Given the description of an element on the screen output the (x, y) to click on. 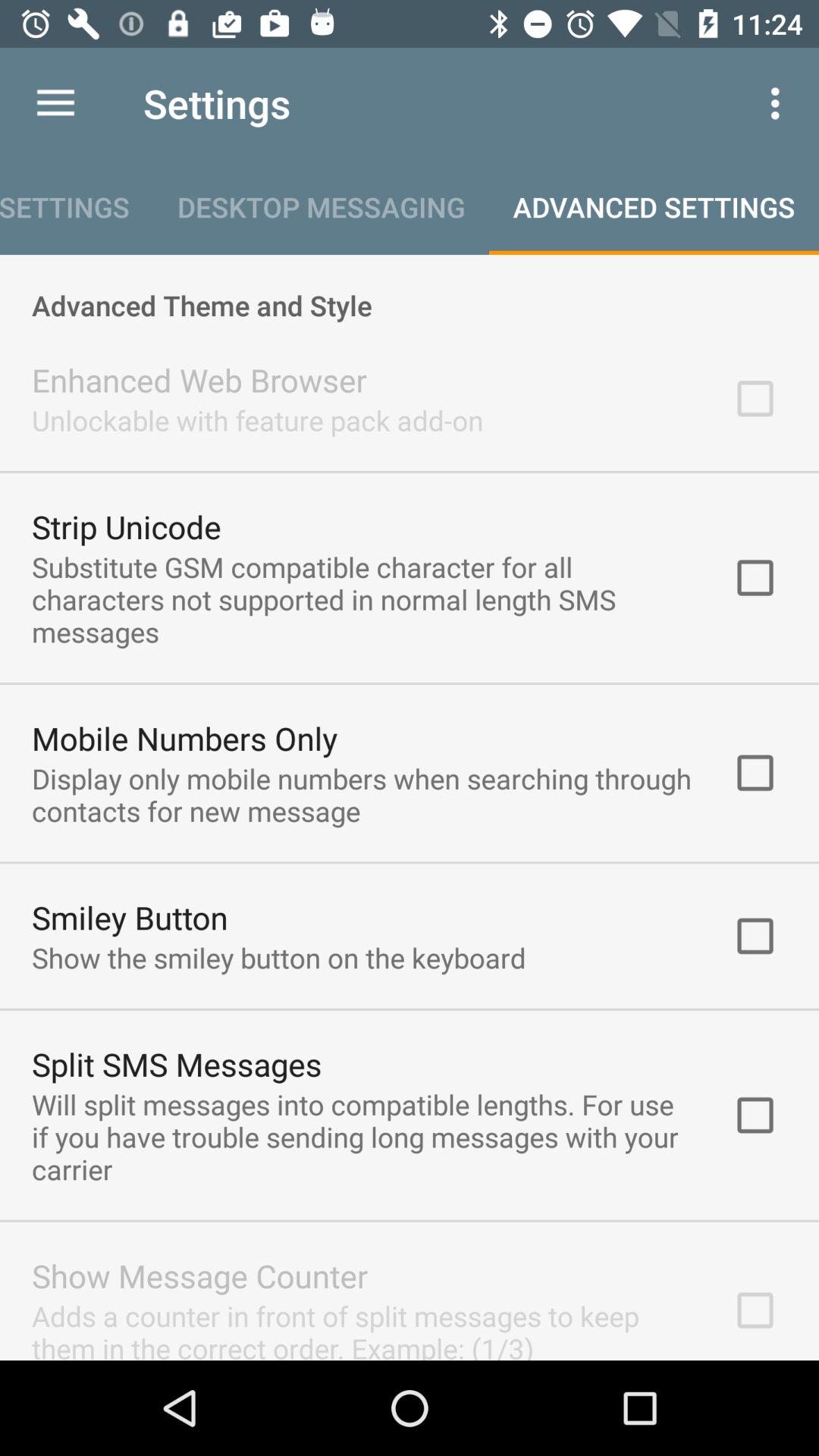
press item below unlockable with feature item (126, 526)
